Given the description of an element on the screen output the (x, y) to click on. 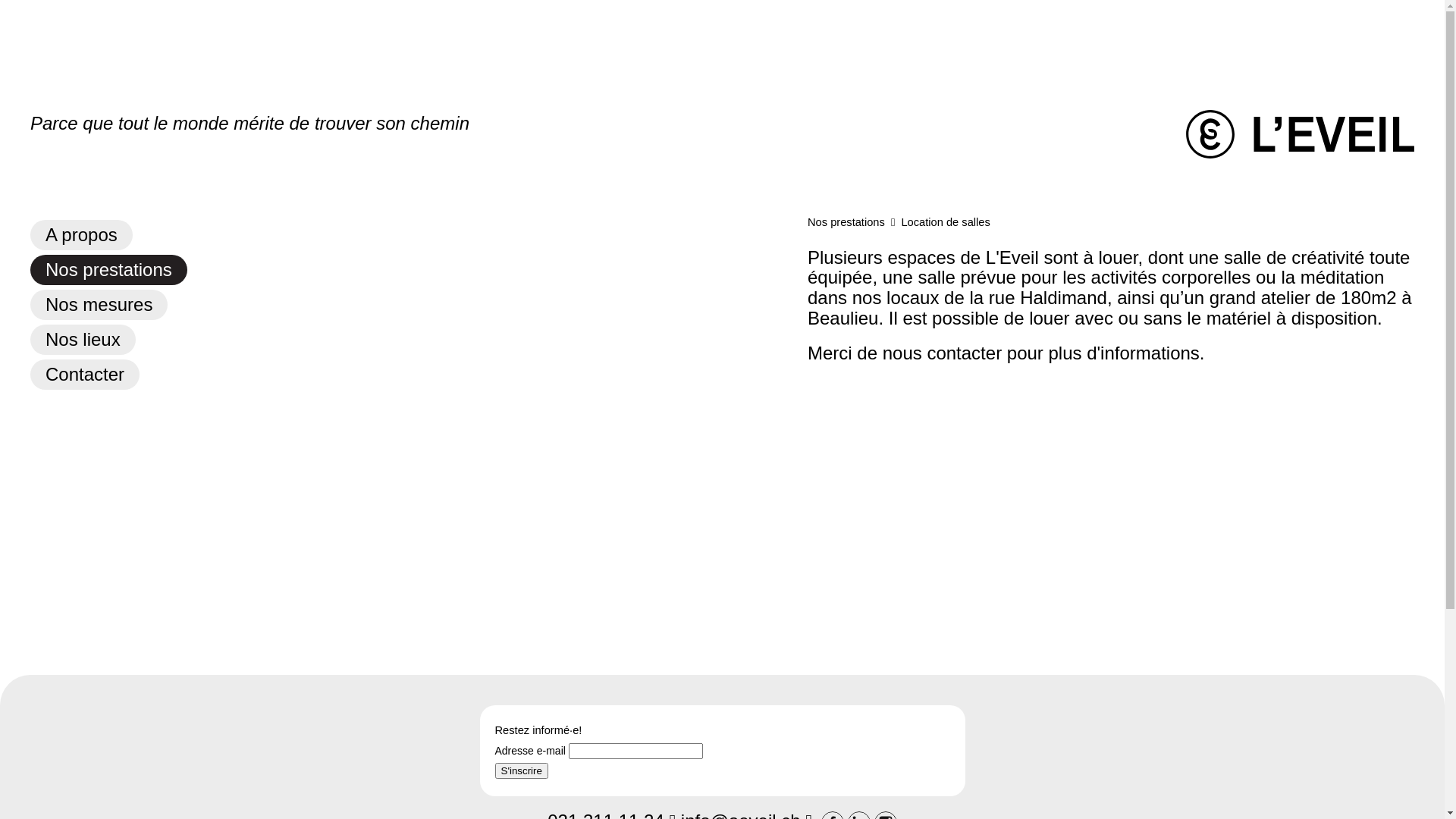
Nos lieux Element type: text (82, 339)
A propos Element type: text (81, 234)
Nos prestations Element type: text (108, 269)
Nos mesures Element type: text (98, 304)
Nos prestations Element type: text (845, 222)
S'inscrire Element type: text (520, 770)
Contacter Element type: text (84, 374)
